Given the description of an element on the screen output the (x, y) to click on. 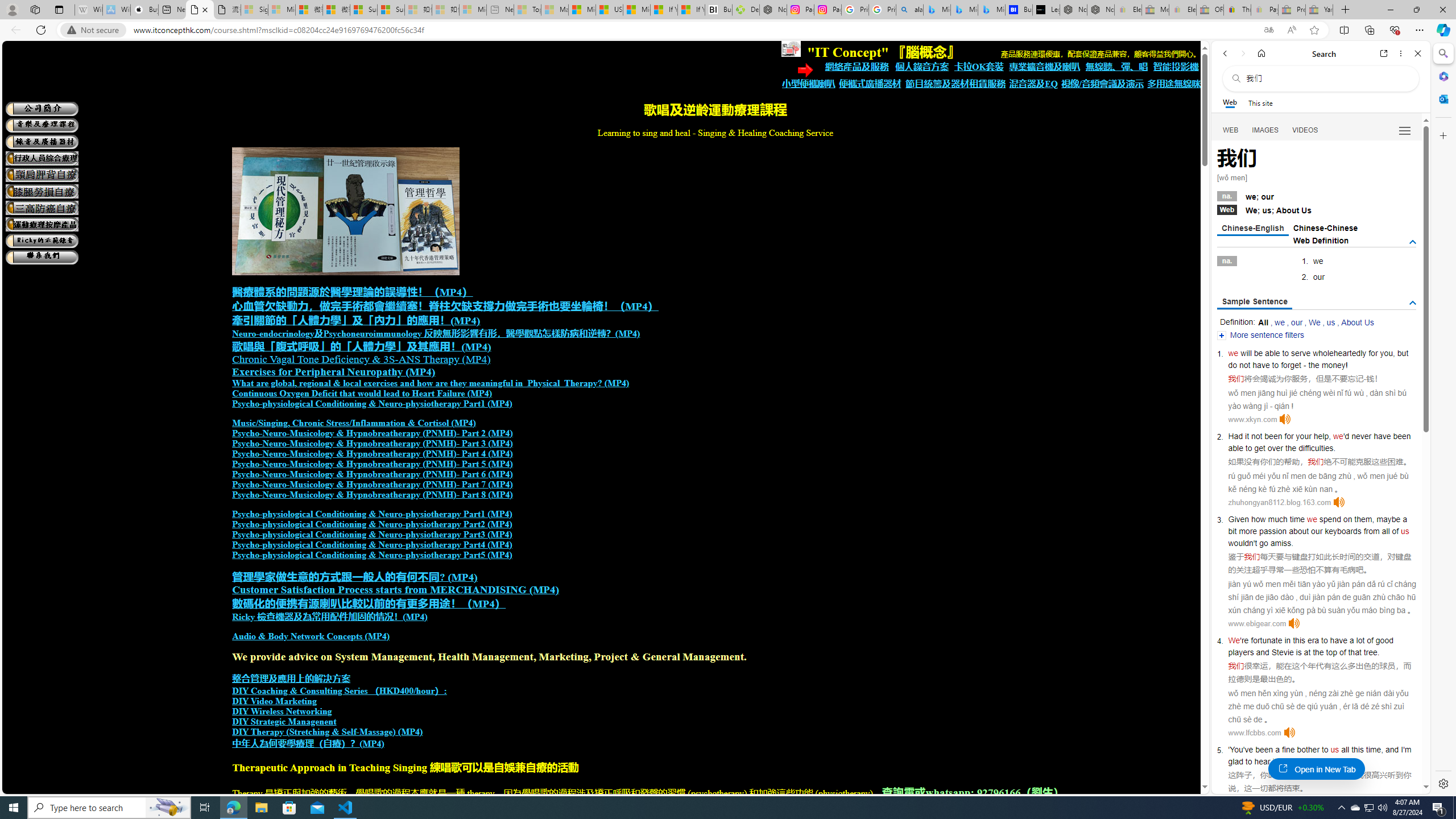
AutomationID: tgdef_sen (1412, 302)
Chinese-English (1252, 228)
going (1294, 760)
na.we; our (1316, 195)
(MP4) (371, 743)
